Given the description of an element on the screen output the (x, y) to click on. 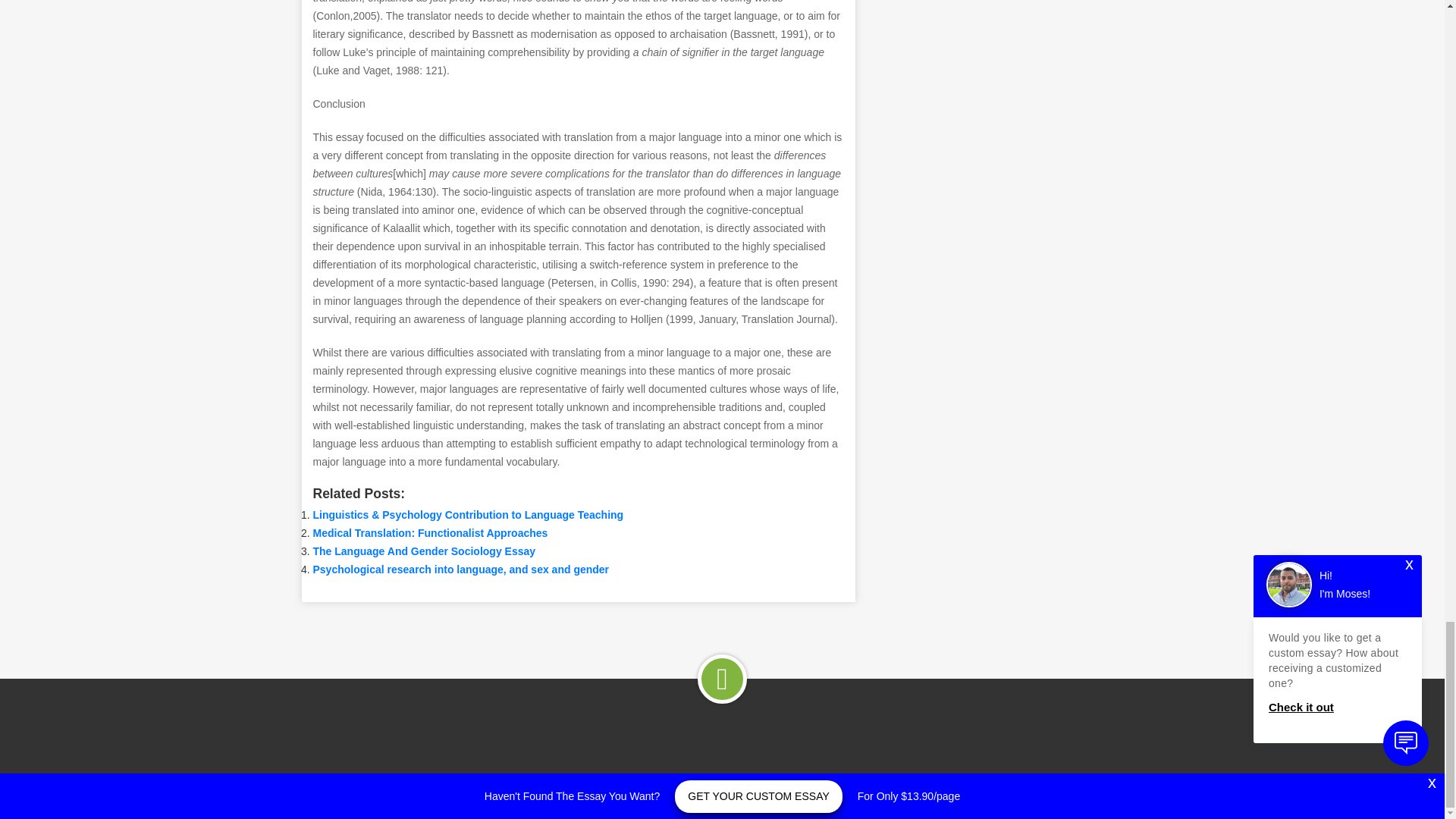
The Language And Gender Sociology Essay (424, 551)
The Language And Gender Sociology Essay (424, 551)
Medical Translation: Functionalist Approaches (430, 532)
Psychological research into language, and sex and gender (460, 569)
Psychological research into language, and sex and gender (460, 569)
Medical Translation: Functionalist Approaches (430, 532)
